Given the description of an element on the screen output the (x, y) to click on. 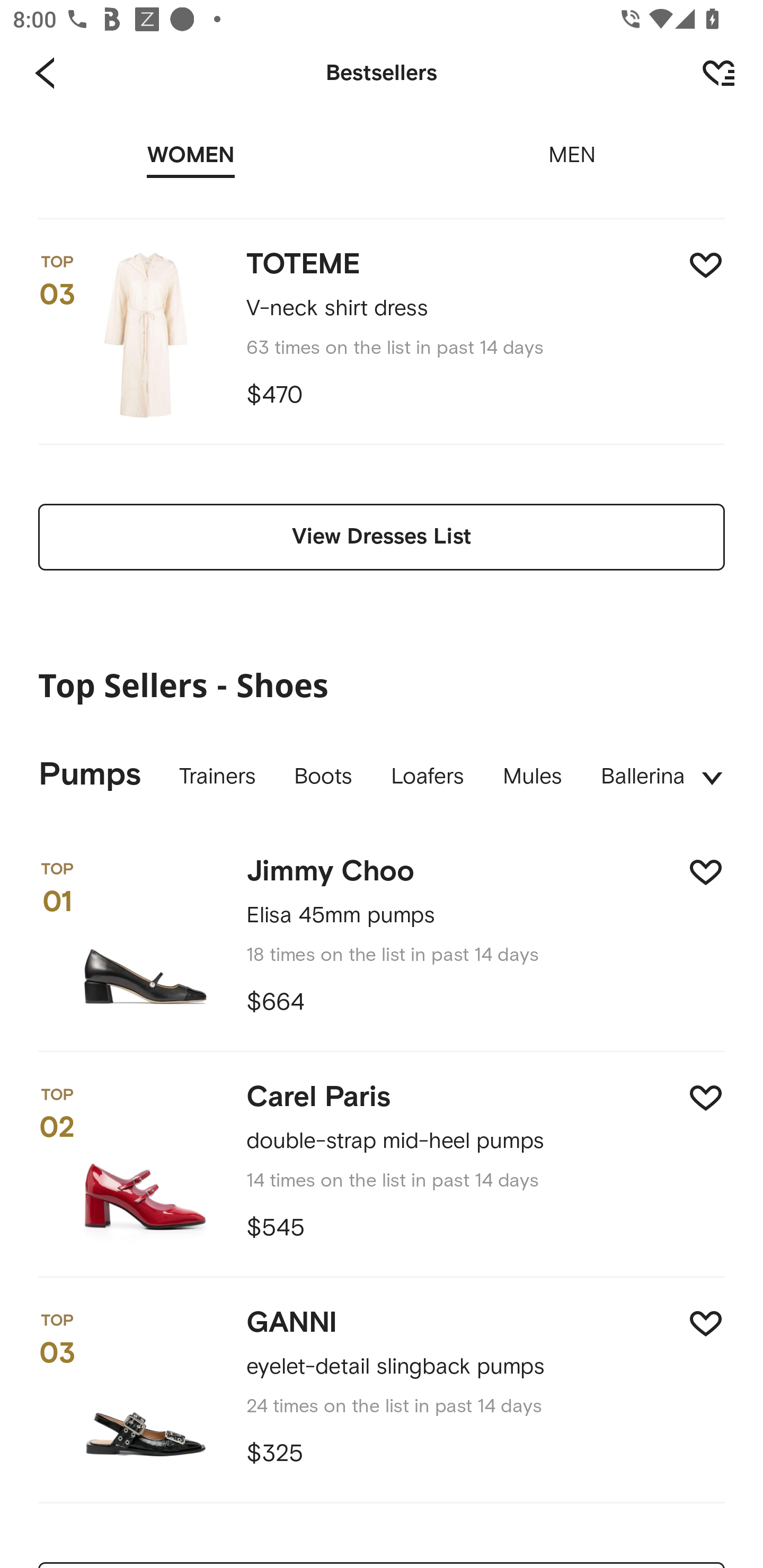
MEN (572, 143)
View Dresses List (381, 536)
Trainers (217, 776)
Boots (323, 776)
Loafers (427, 776)
Mules (532, 776)
Ballerina Shoes (632, 776)
